Given the description of an element on the screen output the (x, y) to click on. 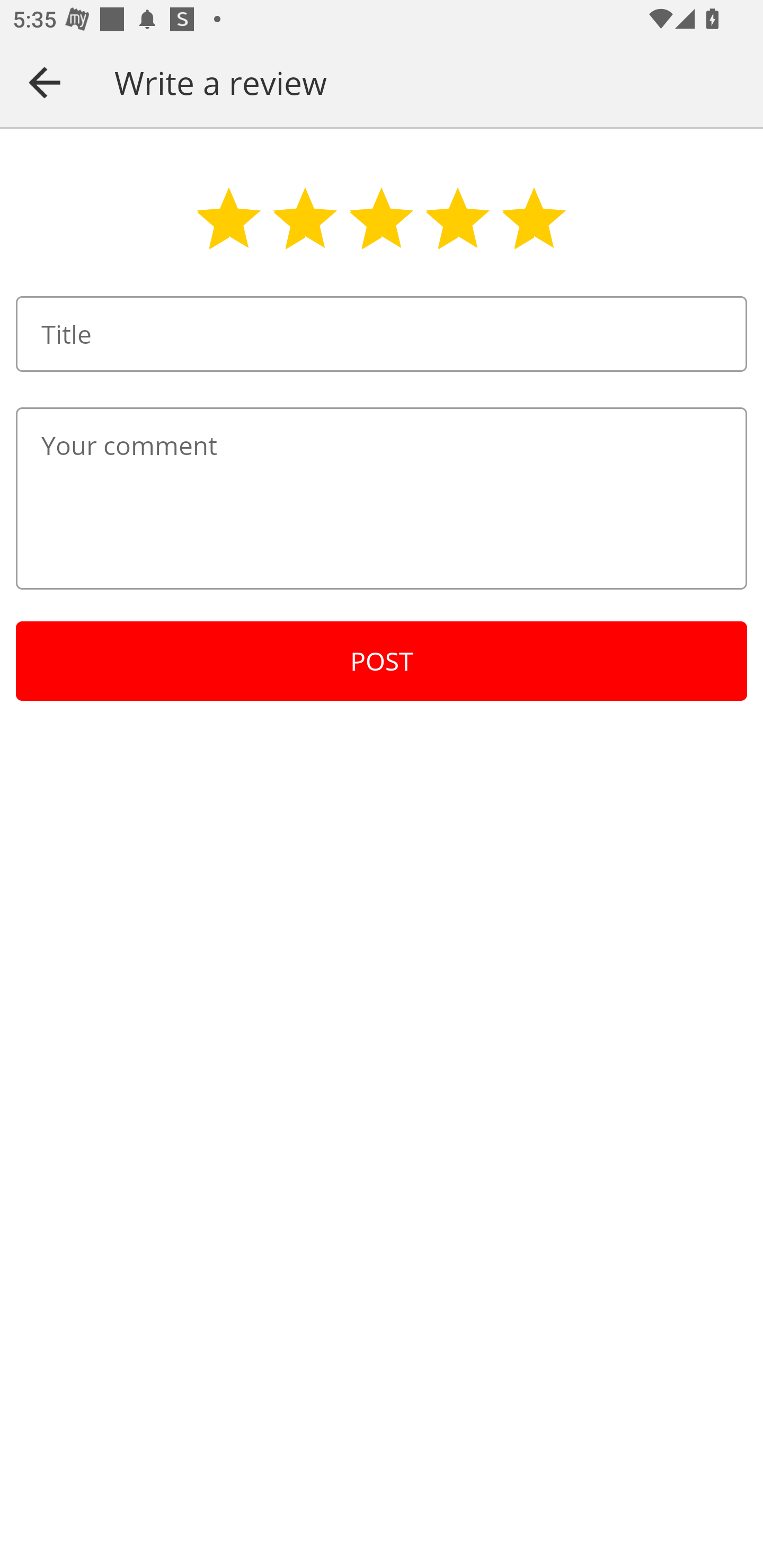
Navigate up (44, 82)
Title (381, 333)
Your comment (381, 498)
POST (381, 660)
